Given the description of an element on the screen output the (x, y) to click on. 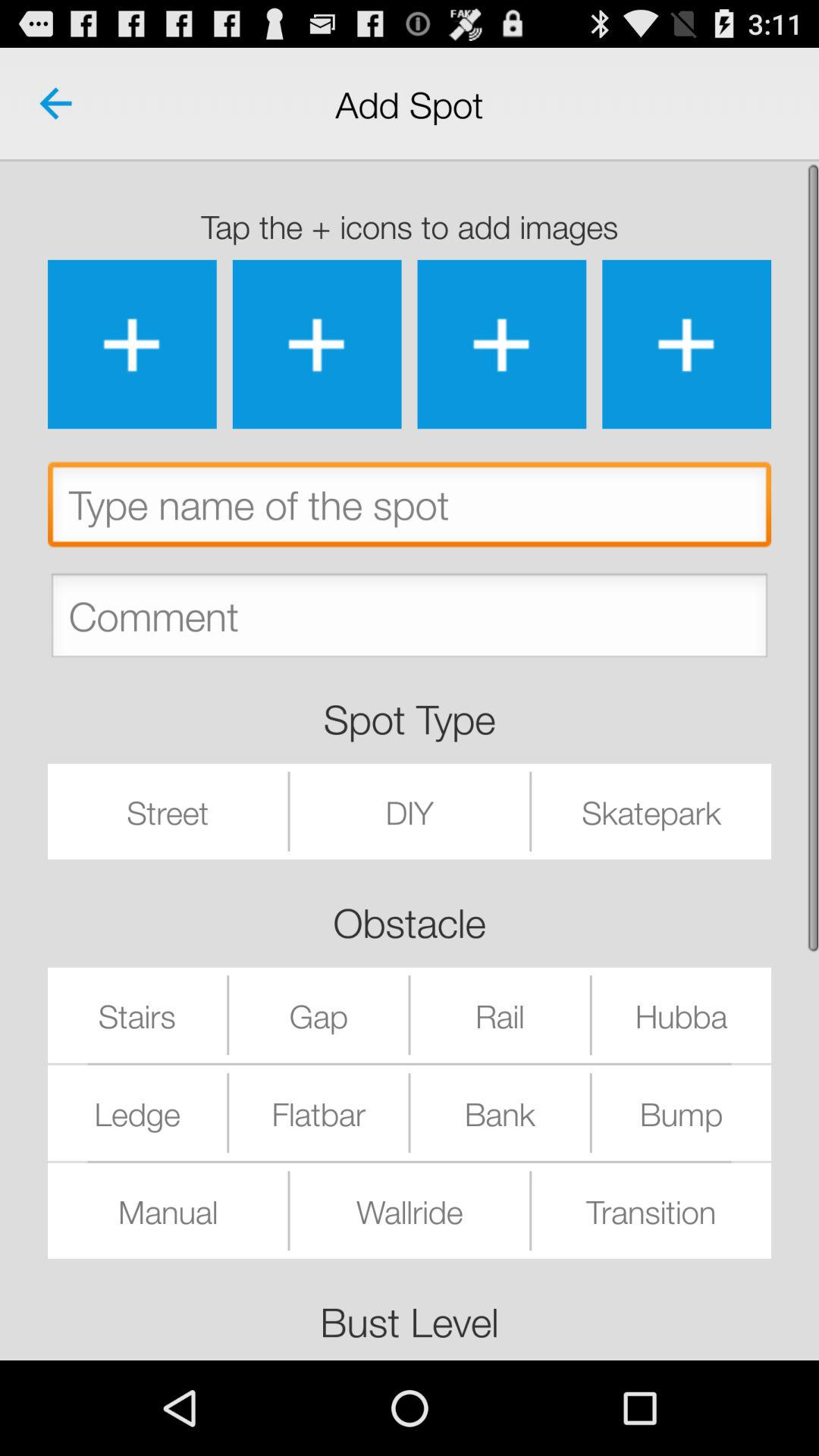
add an image (686, 343)
